Given the description of an element on the screen output the (x, y) to click on. 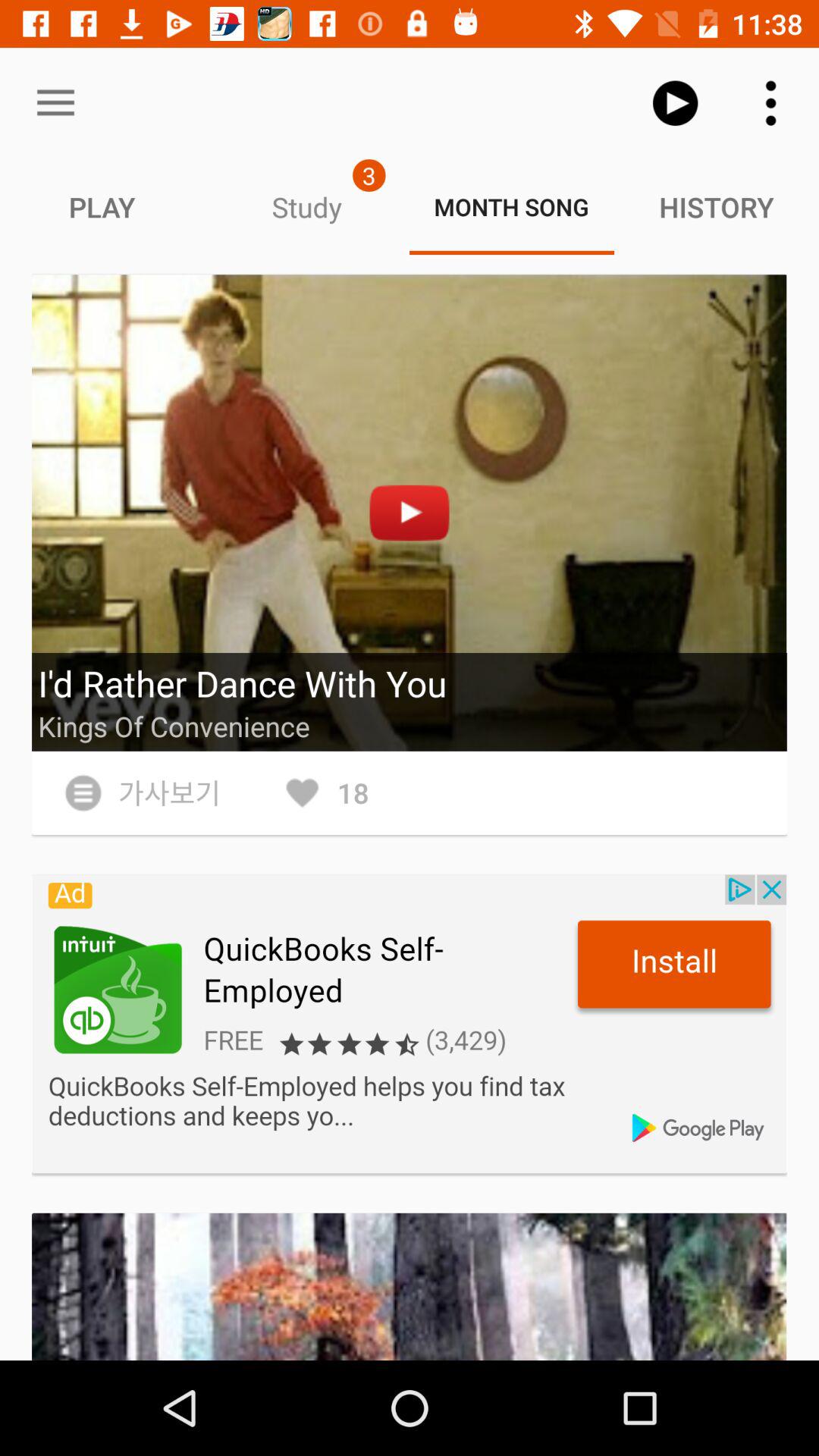
play video (409, 512)
